Given the description of an element on the screen output the (x, y) to click on. 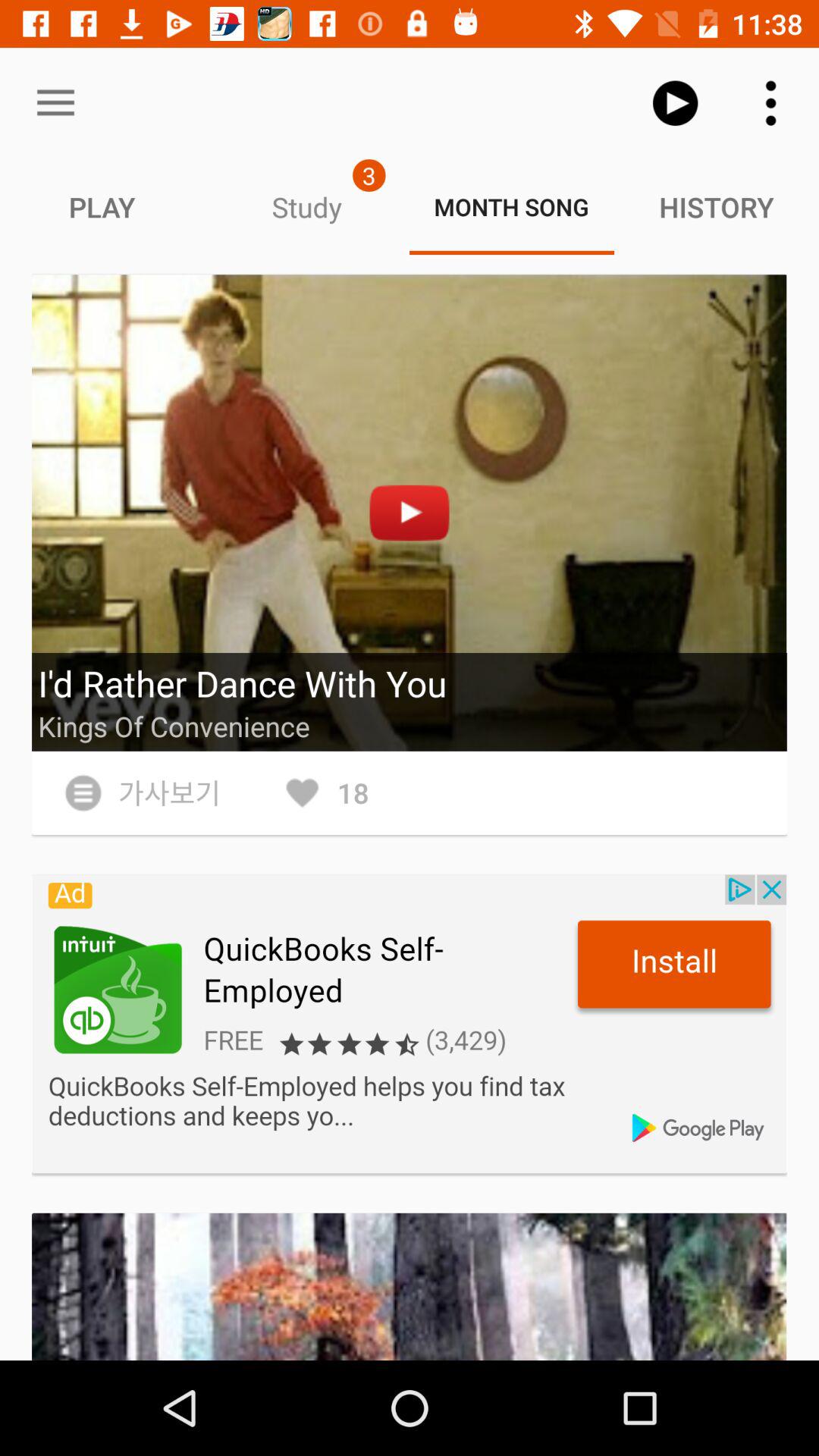
play video (409, 512)
